Given the description of an element on the screen output the (x, y) to click on. 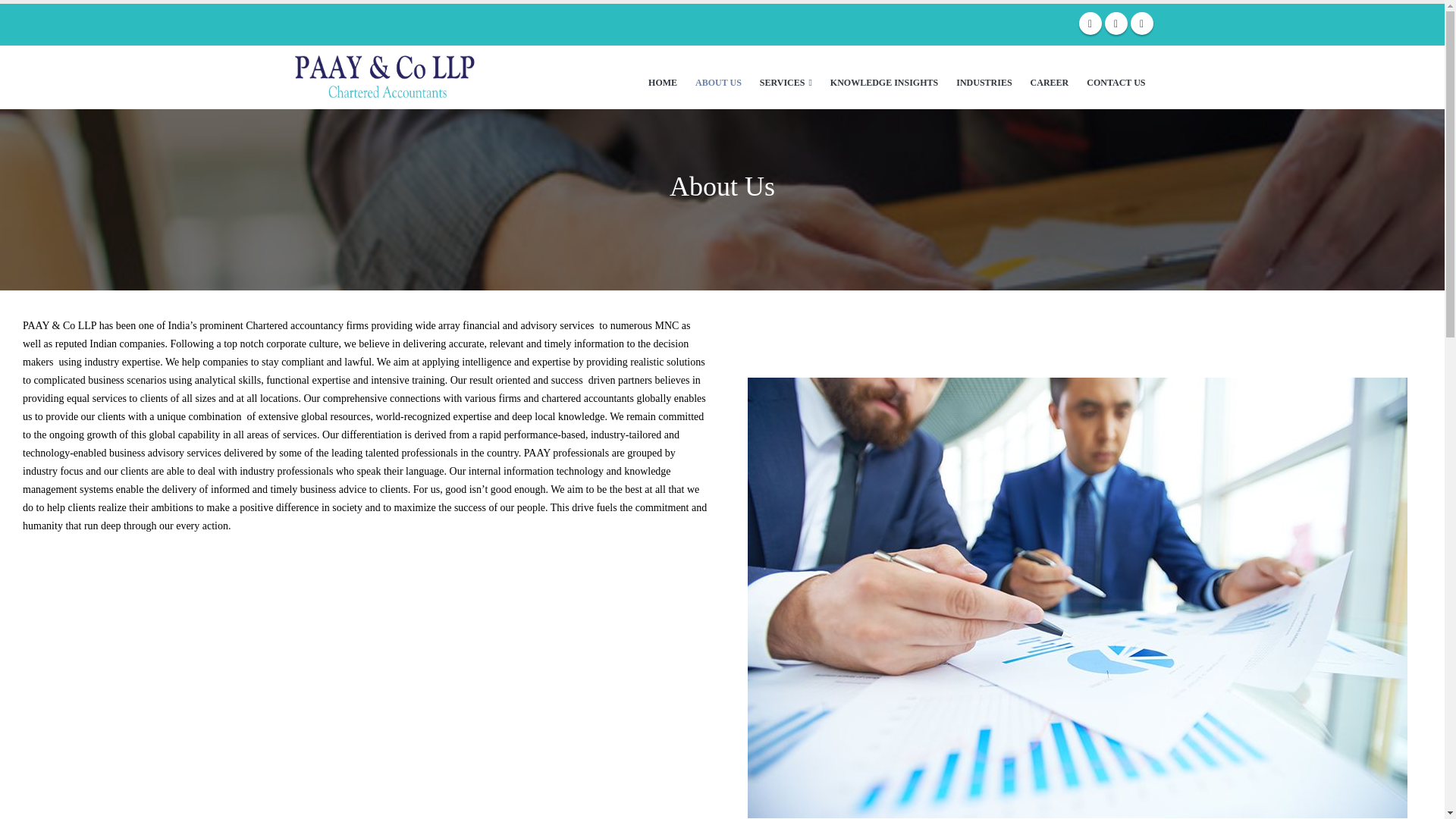
SERVICES (786, 76)
CONTACT US (1115, 76)
Twitter (1114, 23)
CAREER (1050, 76)
KNOWLEDGE INSIGHTS (884, 76)
ABOUT US (718, 76)
LinkedIn (1141, 23)
INDUSTRIES (983, 76)
Facebook (1089, 23)
